Given the description of an element on the screen output the (x, y) to click on. 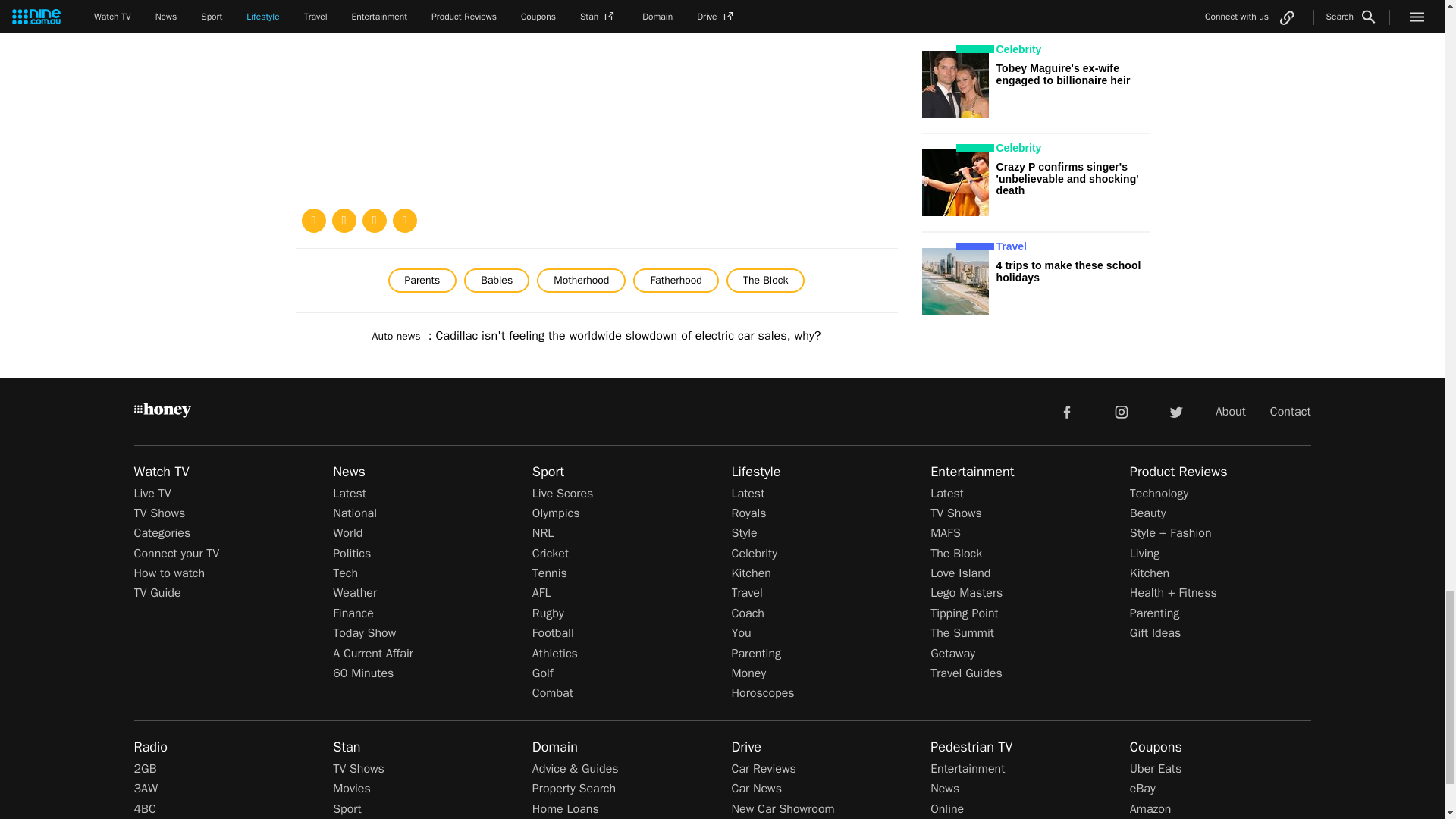
instagram (1121, 410)
facebook (1066, 410)
twitter (1175, 410)
Parents (422, 280)
Motherhood (581, 280)
Babies (496, 280)
The Block (765, 280)
Fatherhood (675, 280)
